Given the description of an element on the screen output the (x, y) to click on. 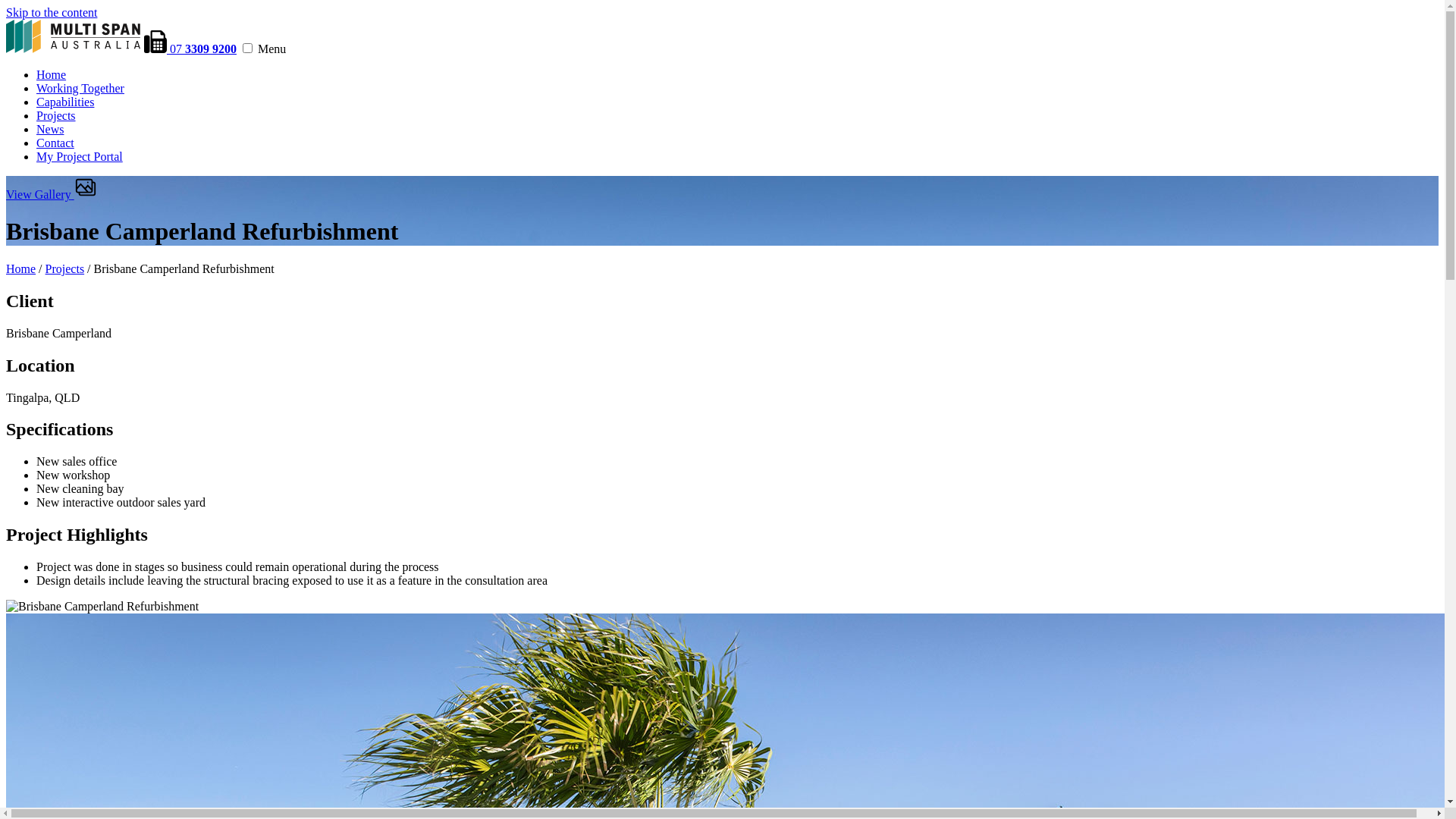
Home Element type: text (20, 268)
Skip to the content Element type: text (51, 12)
Contact Element type: text (55, 142)
News Element type: text (49, 128)
Working Together Element type: text (80, 87)
menu Element type: hover (247, 48)
Projects Element type: text (55, 115)
07 3309 9200 Element type: text (190, 48)
View Gallery Element type: text (51, 194)
Capabilities Element type: text (65, 101)
My Project Portal Element type: text (79, 156)
Projects Element type: text (64, 268)
Home Element type: text (50, 74)
